Given the description of an element on the screen output the (x, y) to click on. 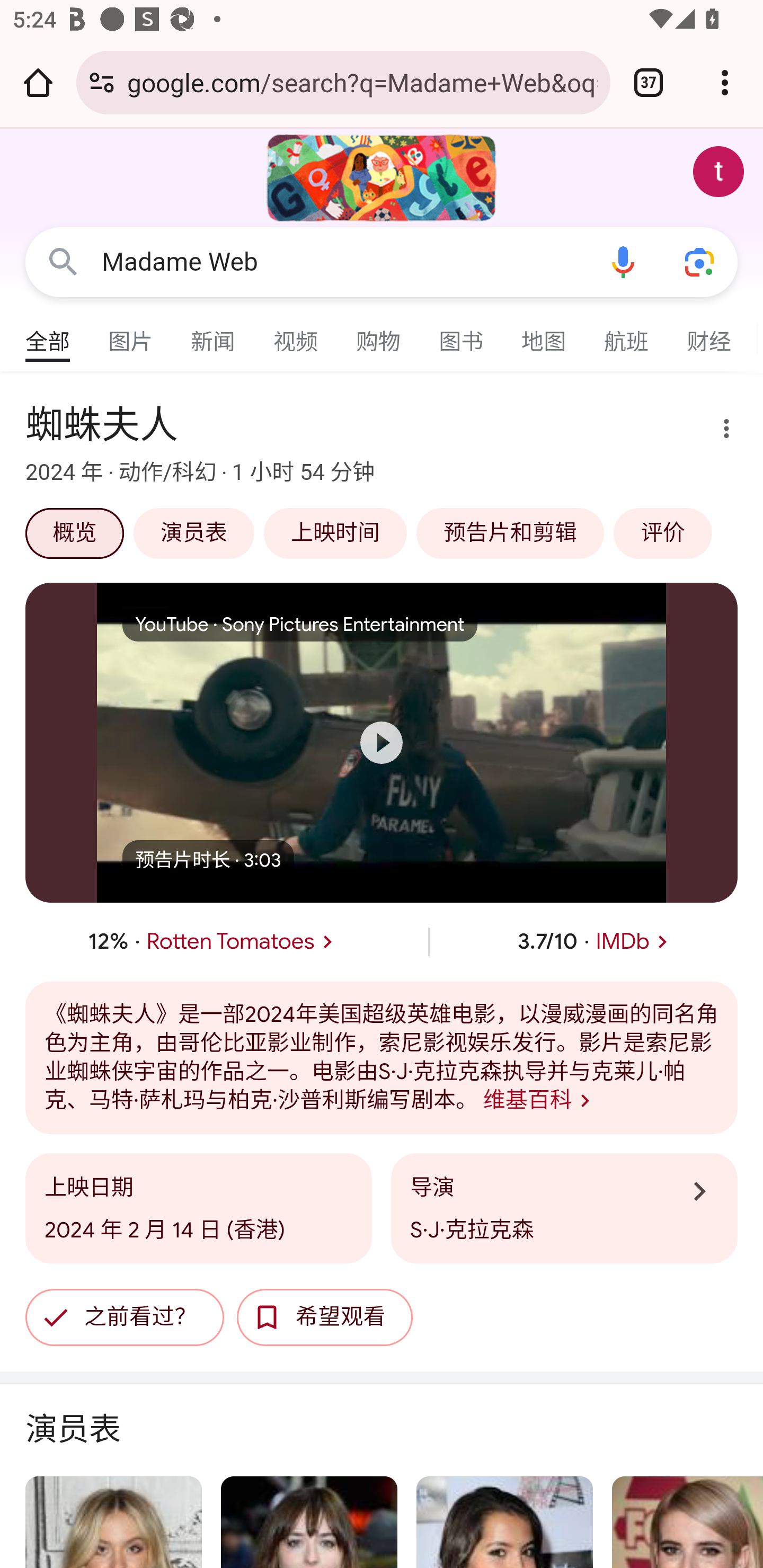
Open the home page (38, 82)
Connection is secure (101, 82)
Switch or close tabs (648, 82)
Customize and control Google Chrome (724, 82)
2024 年国际妇女节 (381, 177)
Google 账号： test appium (testappium002@gmail.com) (718, 171)
Google 搜索 (63, 262)
使用拍照功能或照片进行搜索 (699, 262)
Madame Web (343, 261)
图片 (131, 333)
新闻 (213, 333)
视频 (296, 333)
购物 (379, 333)
图书 (461, 333)
地图 (544, 333)
航班 (627, 333)
财经 (709, 333)
更多选项 (714, 430)
概览 (75, 532)
演员表 (194, 532)
上映时间 (336, 532)
预告片和剪辑 (511, 532)
评价 (663, 532)
在Rotten Tomatoes上得到的评分为百分之 12。 (213, 941)
在IMDb上得到的评分为 3.7，最高评分为 10。 (595, 941)
导演 了解详情 S·J·克拉克森 导演 了解详情 S·J·克拉克森 (563, 1208)
之前看过？ (125, 1317)
 希望观看  (324, 1317)
